Given the description of an element on the screen output the (x, y) to click on. 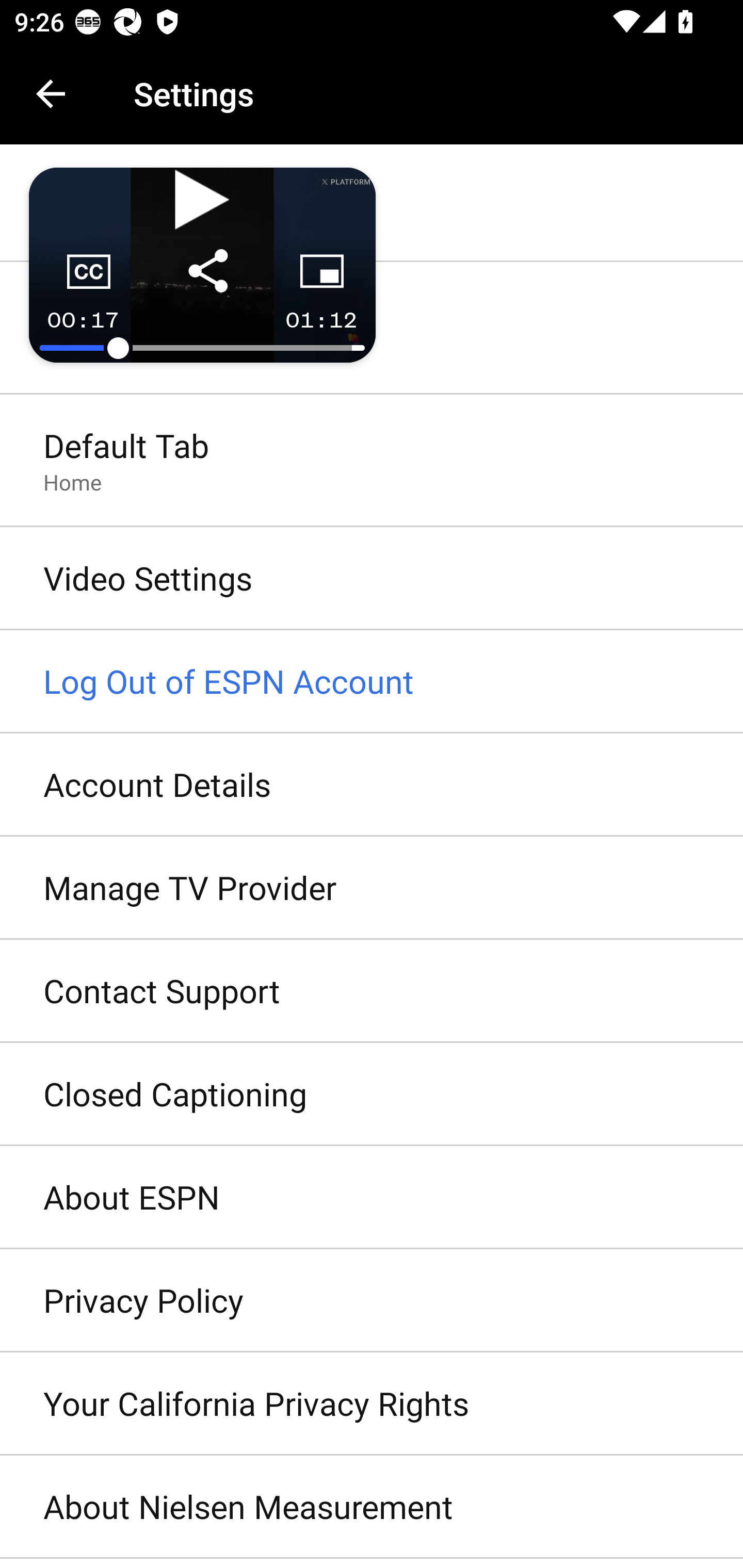
Navigate up (50, 93)
Default Tab Home (371, 461)
Video Settings (371, 578)
Log Out of ESPN Account (371, 681)
Account Details (371, 785)
Manage TV Provider (371, 888)
Contact Support (371, 990)
Closed Captioning (371, 1094)
About ESPN (371, 1197)
Privacy Policy (371, 1301)
Your California Privacy Rights (371, 1403)
About Nielsen Measurement (371, 1506)
